Given the description of an element on the screen output the (x, y) to click on. 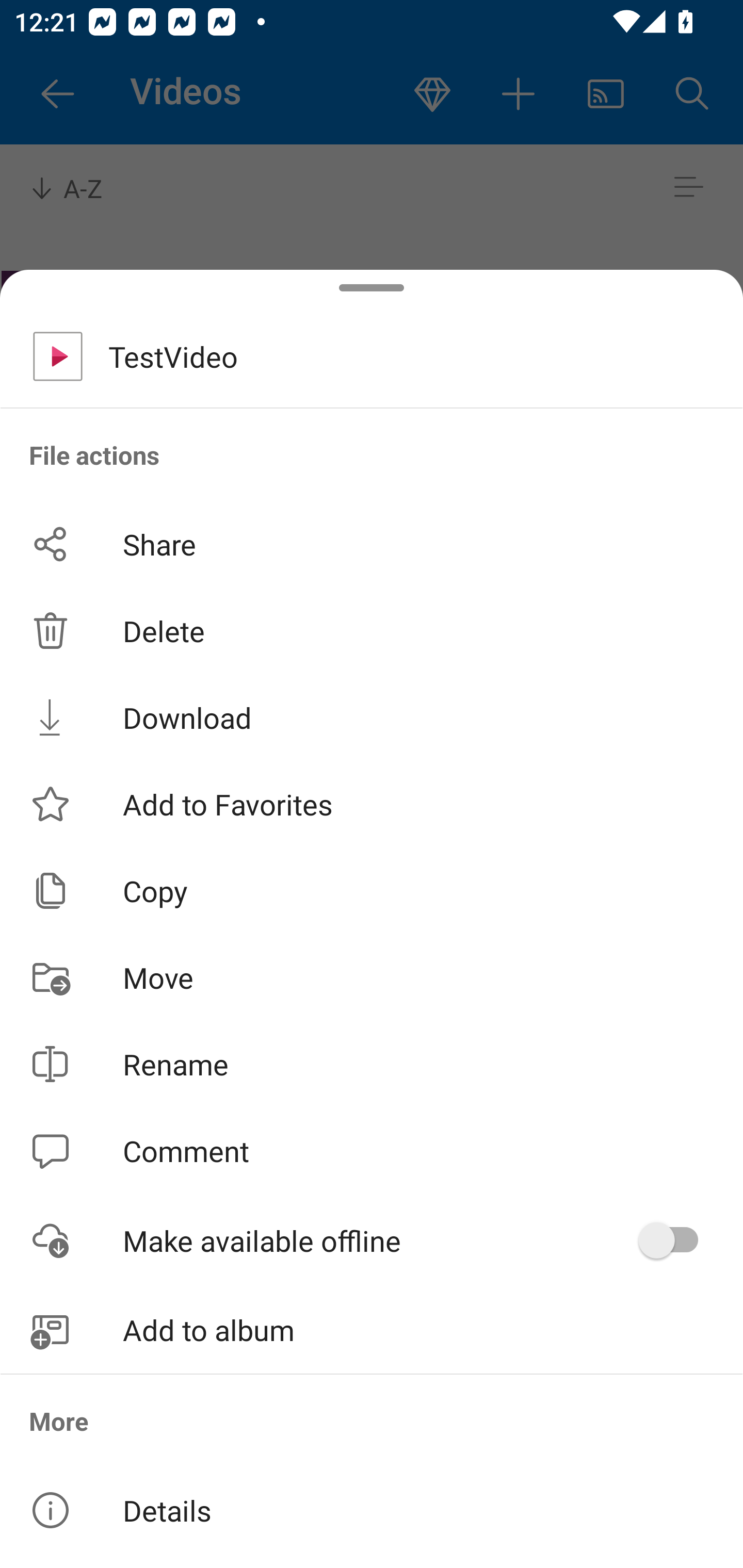
Share button Share (371, 544)
Delete button Delete (371, 631)
Download button Download (371, 717)
Add to Favorites button Add to Favorites (371, 803)
Copy button Copy (371, 890)
Move button Move (371, 977)
Rename button Rename (371, 1063)
Comment button Comment (371, 1150)
Make offline operation (674, 1240)
Add to album button Add to album (371, 1329)
Details button Details (371, 1510)
